Given the description of an element on the screen output the (x, y) to click on. 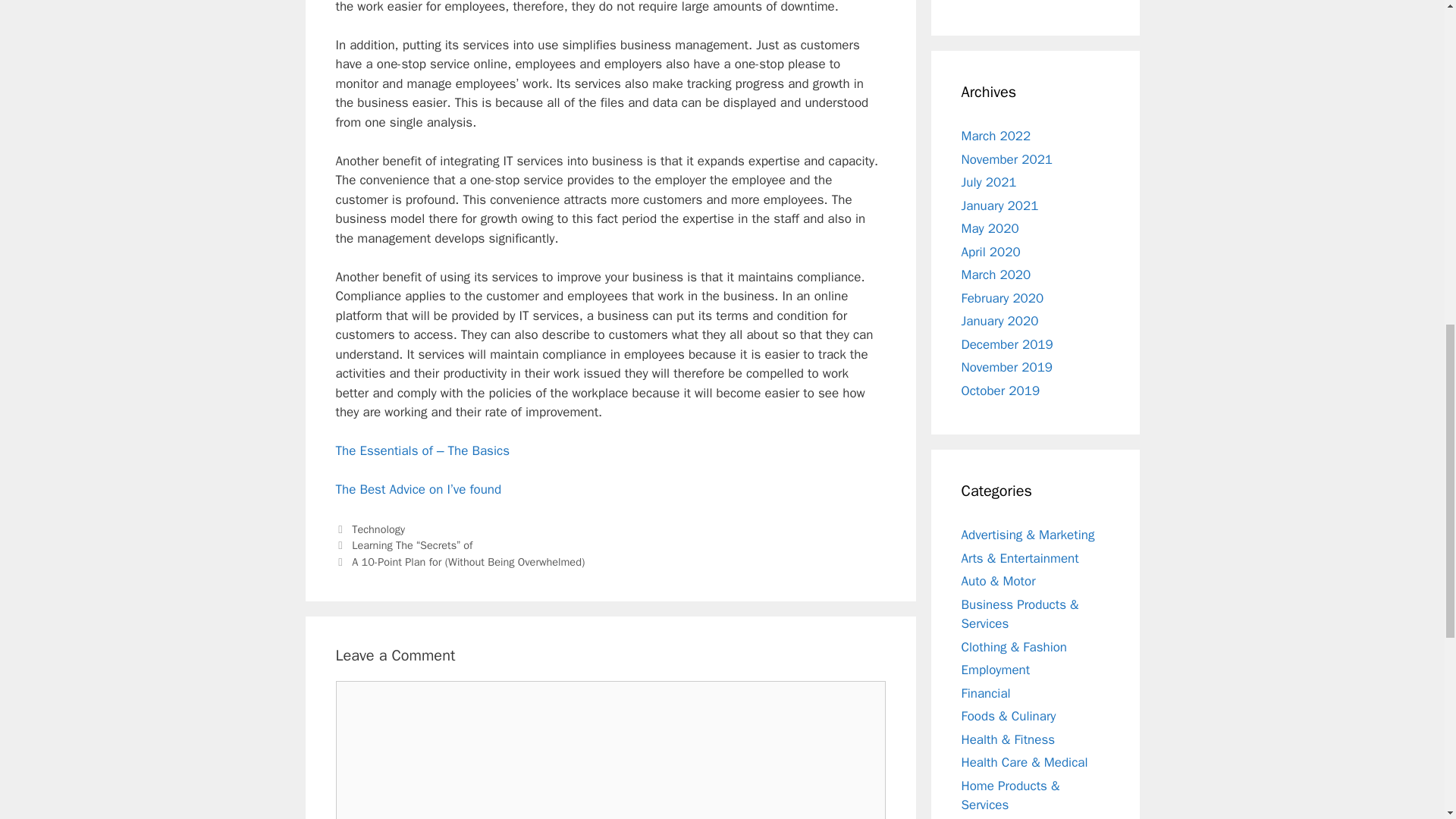
May 2020 (989, 228)
November 2021 (1006, 159)
July 2021 (988, 182)
December 2019 (1006, 344)
January 2020 (999, 320)
March 2022 (995, 135)
October 2019 (1000, 390)
April 2020 (990, 252)
February 2020 (1001, 297)
Technology (378, 529)
Next (459, 561)
March 2020 (995, 274)
Previous (402, 545)
November 2019 (1006, 367)
January 2021 (999, 204)
